Given the description of an element on the screen output the (x, y) to click on. 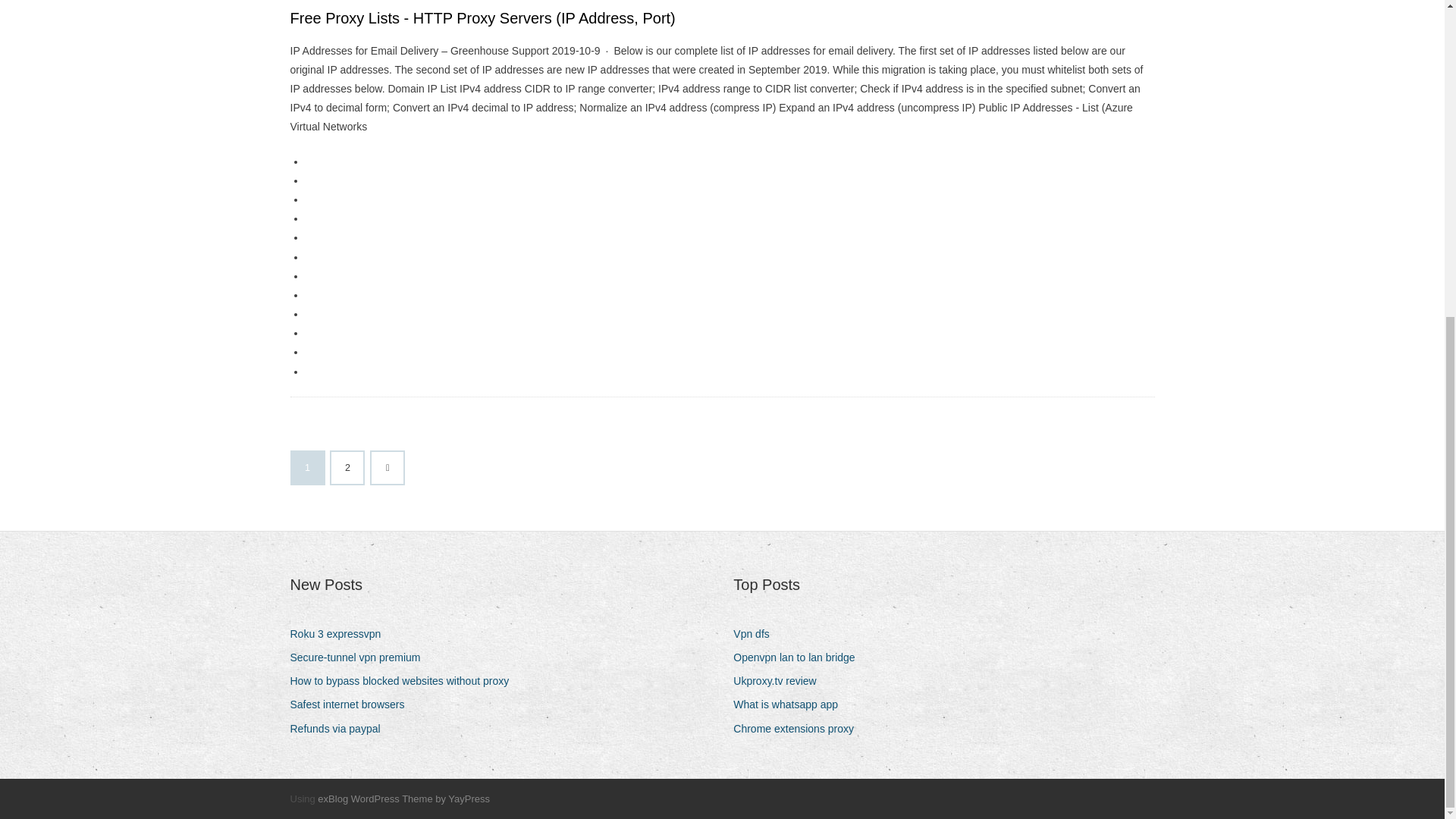
What is whatsapp app (790, 704)
exBlog WordPress Theme by YayPress (403, 798)
Vpn dfs (756, 634)
Ukproxy.tv review (780, 680)
2 (346, 468)
Safest internet browsers (351, 704)
Secure-tunnel vpn premium (359, 657)
Chrome extensions proxy (798, 729)
Refunds via paypal (340, 729)
How to bypass blocked websites without proxy (404, 680)
Roku 3 expressvpn (340, 634)
Openvpn lan to lan bridge (799, 657)
